Given the description of an element on the screen output the (x, y) to click on. 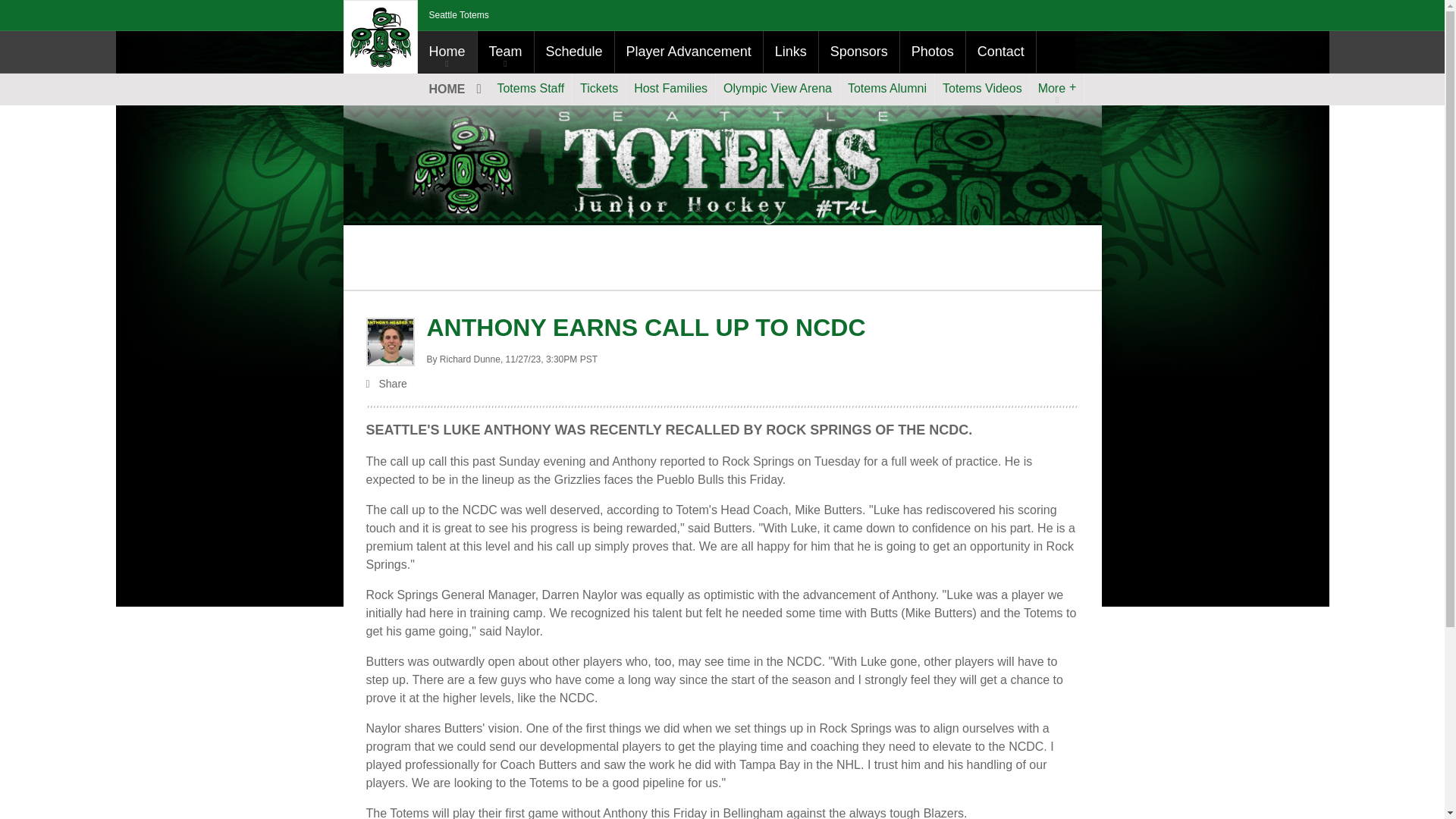
Tickets (599, 88)
click to go to 'Players Advancement Information ' (688, 51)
Sponsors (858, 51)
click to go to 'Olympic View Arena' (778, 88)
Totems Alumni (887, 88)
Host Families (670, 88)
click to go to 'Host Families' (670, 88)
Share (721, 385)
Contact (1000, 51)
Schedule (574, 51)
